Given the description of an element on the screen output the (x, y) to click on. 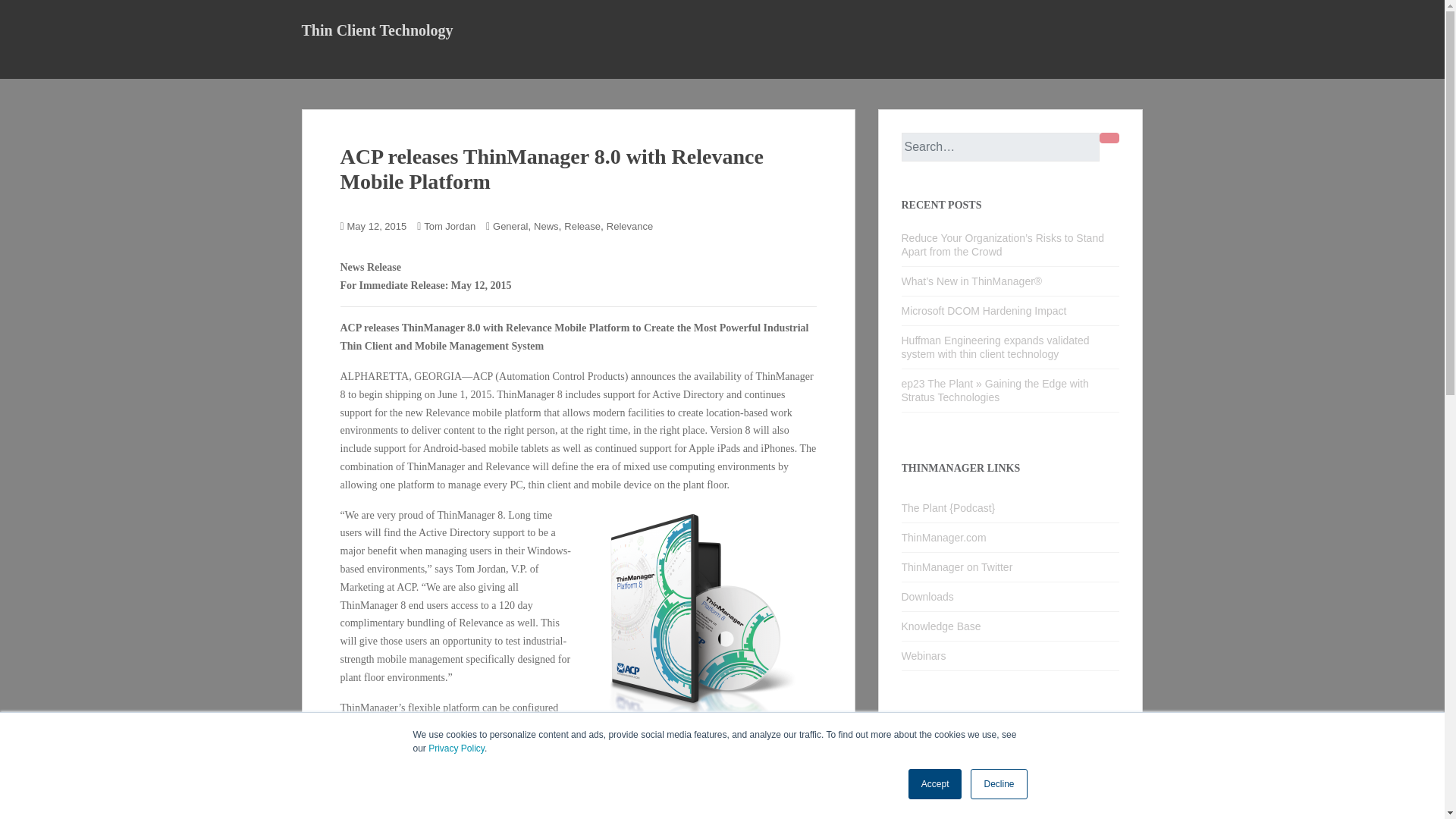
Search (1109, 137)
Privacy Policy (456, 747)
ThinManager on Twitter (1010, 567)
May 12, 2015 (377, 225)
General (510, 225)
News (546, 225)
ThinManager.com (1010, 537)
Accept (935, 784)
Release (581, 225)
